Given the description of an element on the screen output the (x, y) to click on. 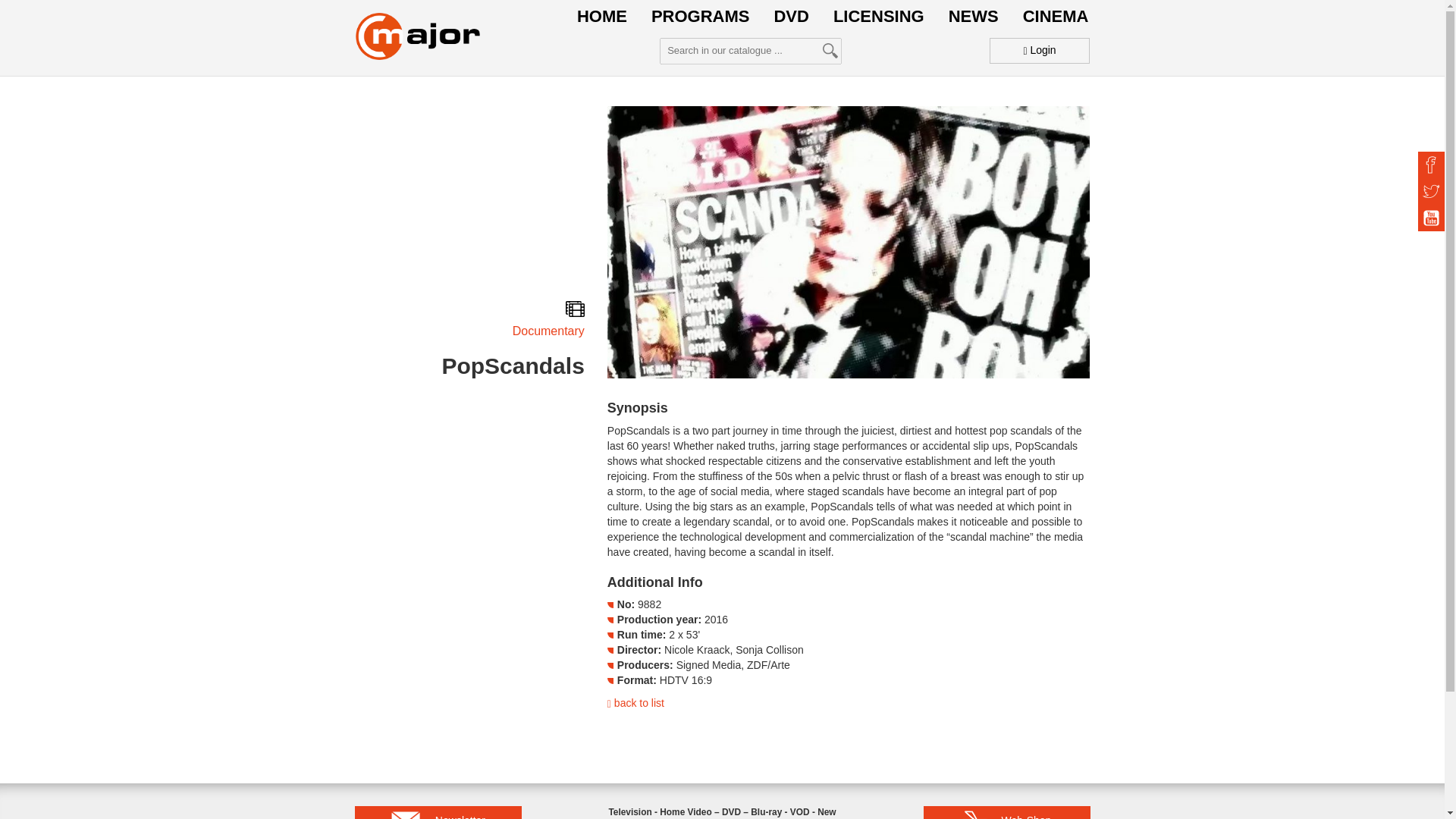
Cinema (1056, 18)
Newsletter (438, 812)
CINEMA (1056, 18)
Login (1040, 50)
Web-Shop (1006, 812)
LICENSING (878, 18)
DVD (790, 18)
NEWS (973, 18)
to home screen (417, 36)
News (973, 18)
HOME (601, 18)
PROGRAMS (699, 18)
DVD (790, 18)
Home (601, 18)
back to list (635, 702)
